Given the description of an element on the screen output the (x, y) to click on. 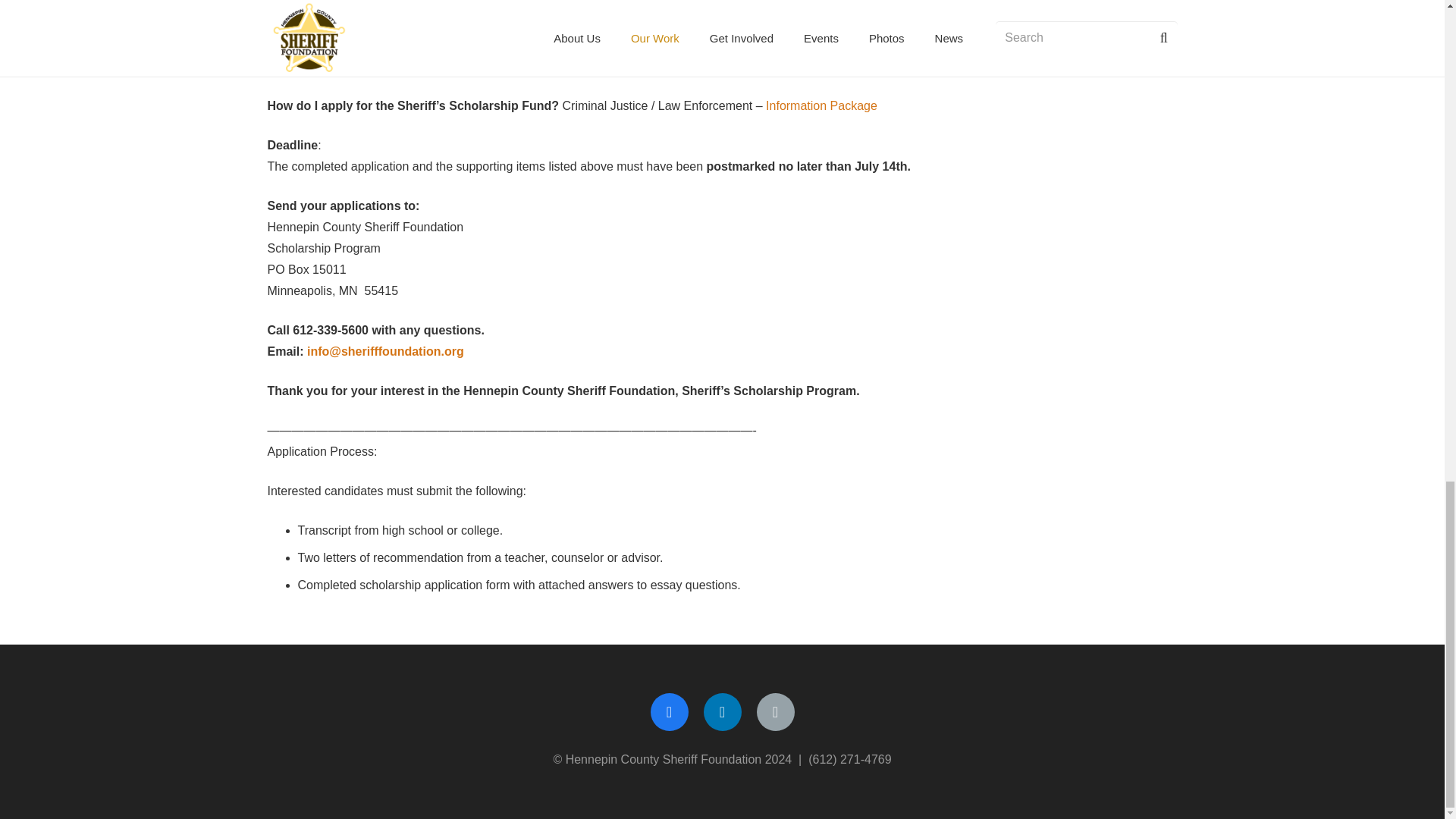
Facebook (669, 711)
Email (775, 711)
LinkedIn (722, 711)
Information Package (821, 105)
HCSF mentor (453, 65)
